Given the description of an element on the screen output the (x, y) to click on. 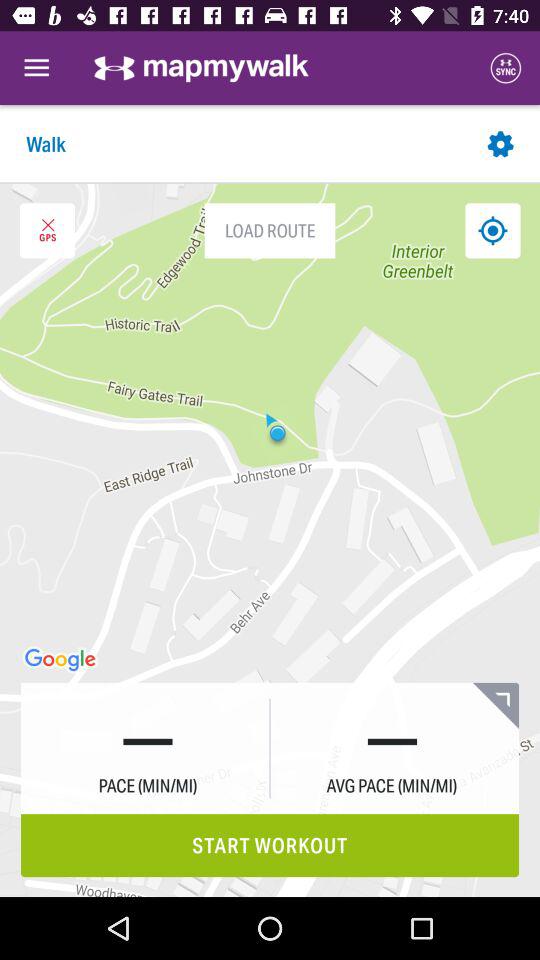
find my location (492, 230)
